Given the description of an element on the screen output the (x, y) to click on. 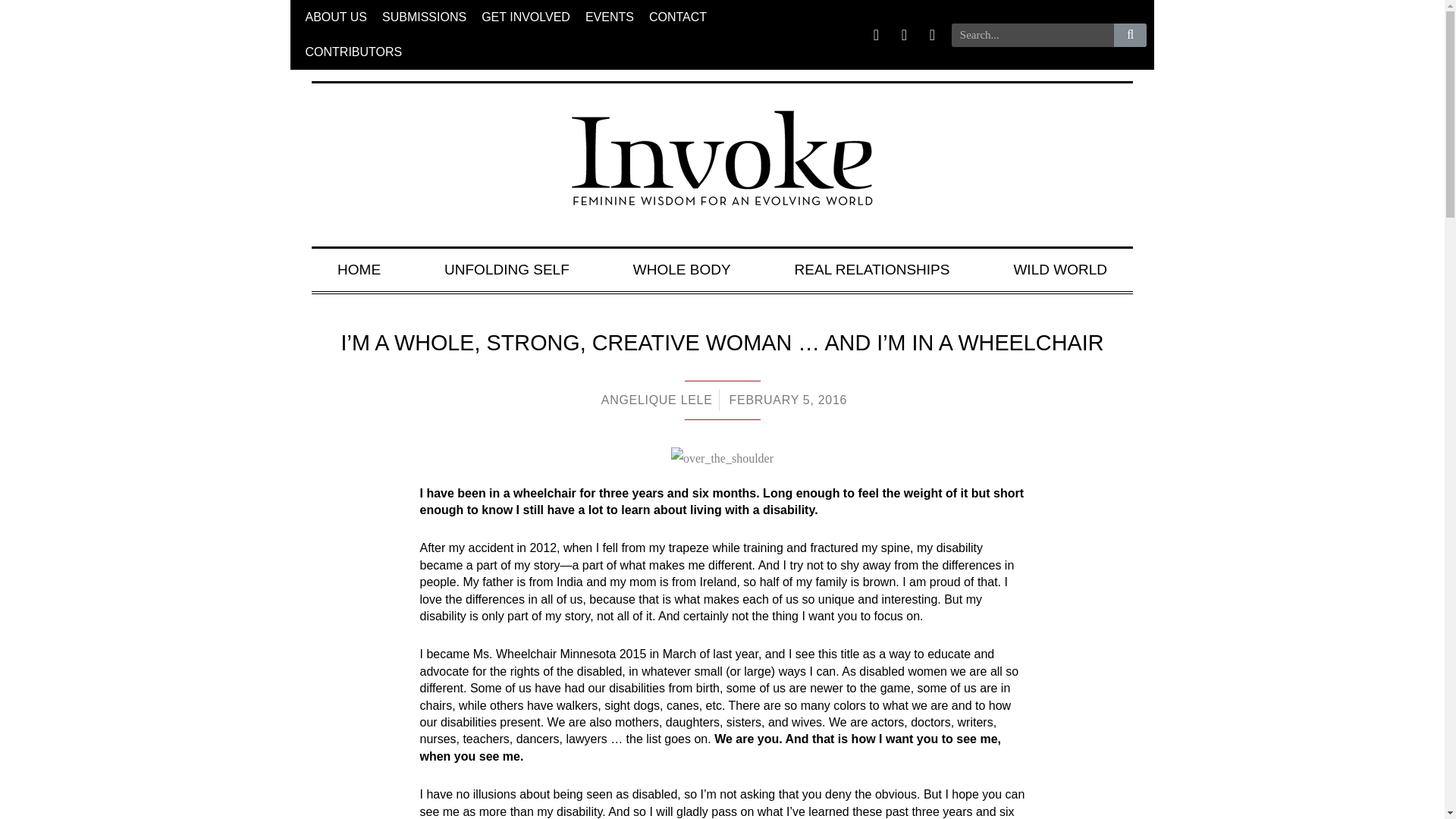
Search (1032, 33)
UNFOLDING SELF (507, 269)
ABOUT US (335, 17)
CONTACT (678, 17)
Search (1130, 33)
REAL RELATIONSHIPS (872, 269)
GET INVOLVED (526, 17)
CONTRIBUTORS (353, 52)
WILD WORLD (1059, 269)
WHOLE BODY (681, 269)
HOME (358, 269)
SUBMISSIONS (424, 17)
EVENTS (610, 17)
